Given the description of an element on the screen output the (x, y) to click on. 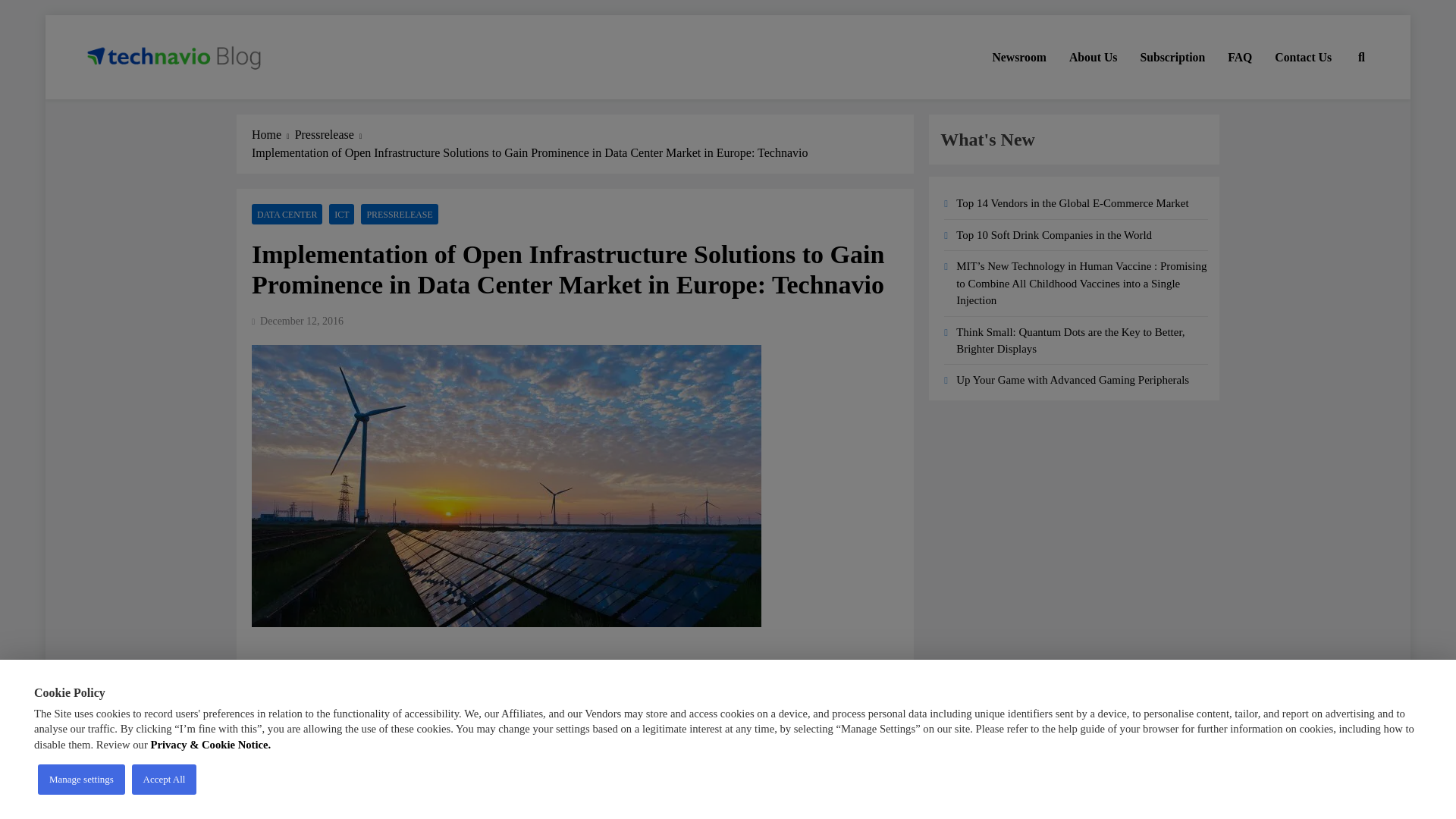
FAQ (1239, 56)
About Us (1093, 56)
data center (381, 777)
Newsroom (1019, 56)
Pressrelease (331, 135)
Subscription (1171, 56)
Contact Us (1302, 56)
Technavio (279, 757)
PRESSRELEASE (399, 213)
ICT (341, 213)
